Given the description of an element on the screen output the (x, y) to click on. 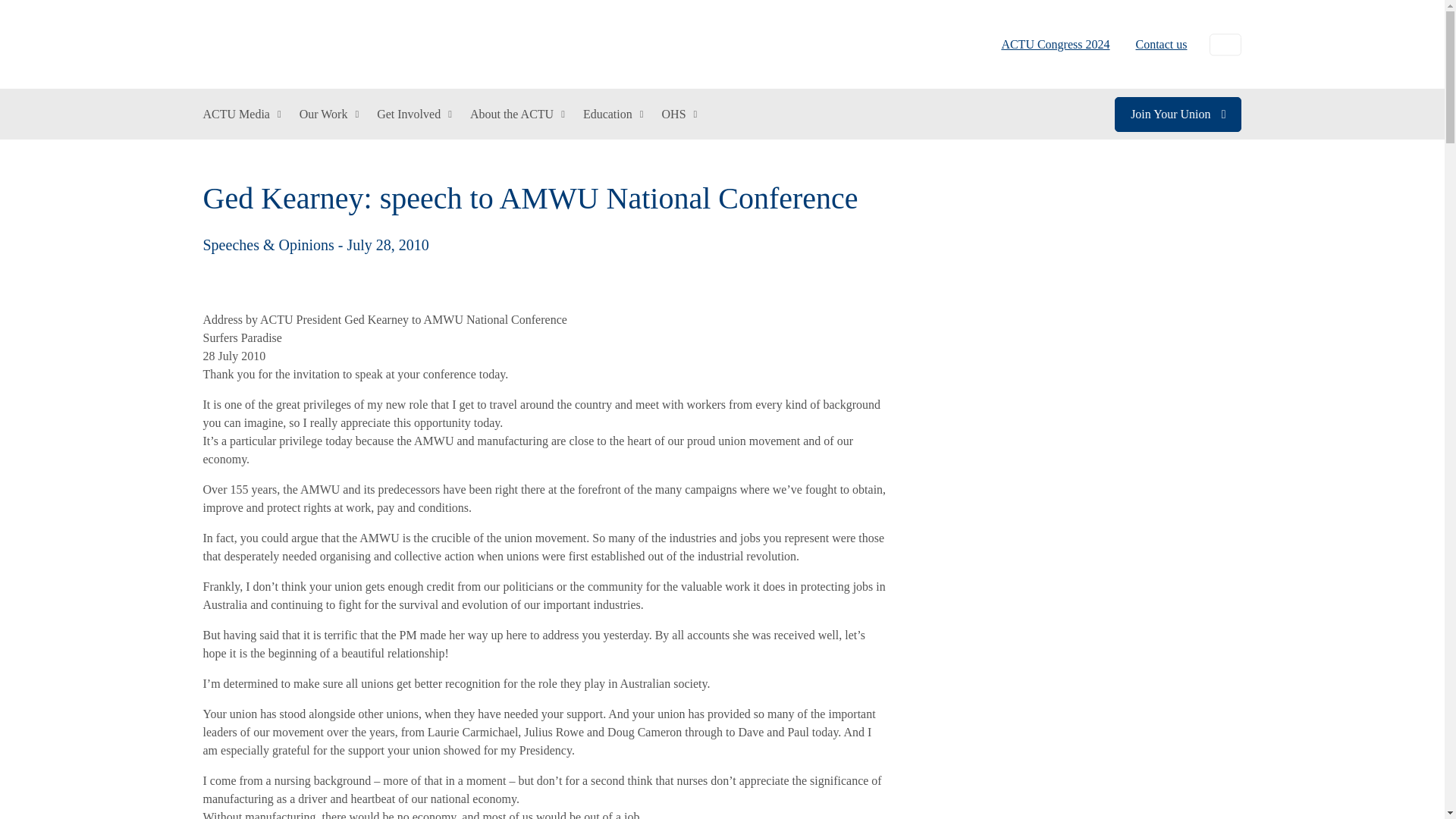
Join Your Union (1178, 114)
ACTU Congress 2024 (1055, 43)
Contact us (1155, 43)
ACTU Congress 2024 (1055, 43)
Contact us (1155, 43)
ACTU Media (242, 114)
